Given the description of an element on the screen output the (x, y) to click on. 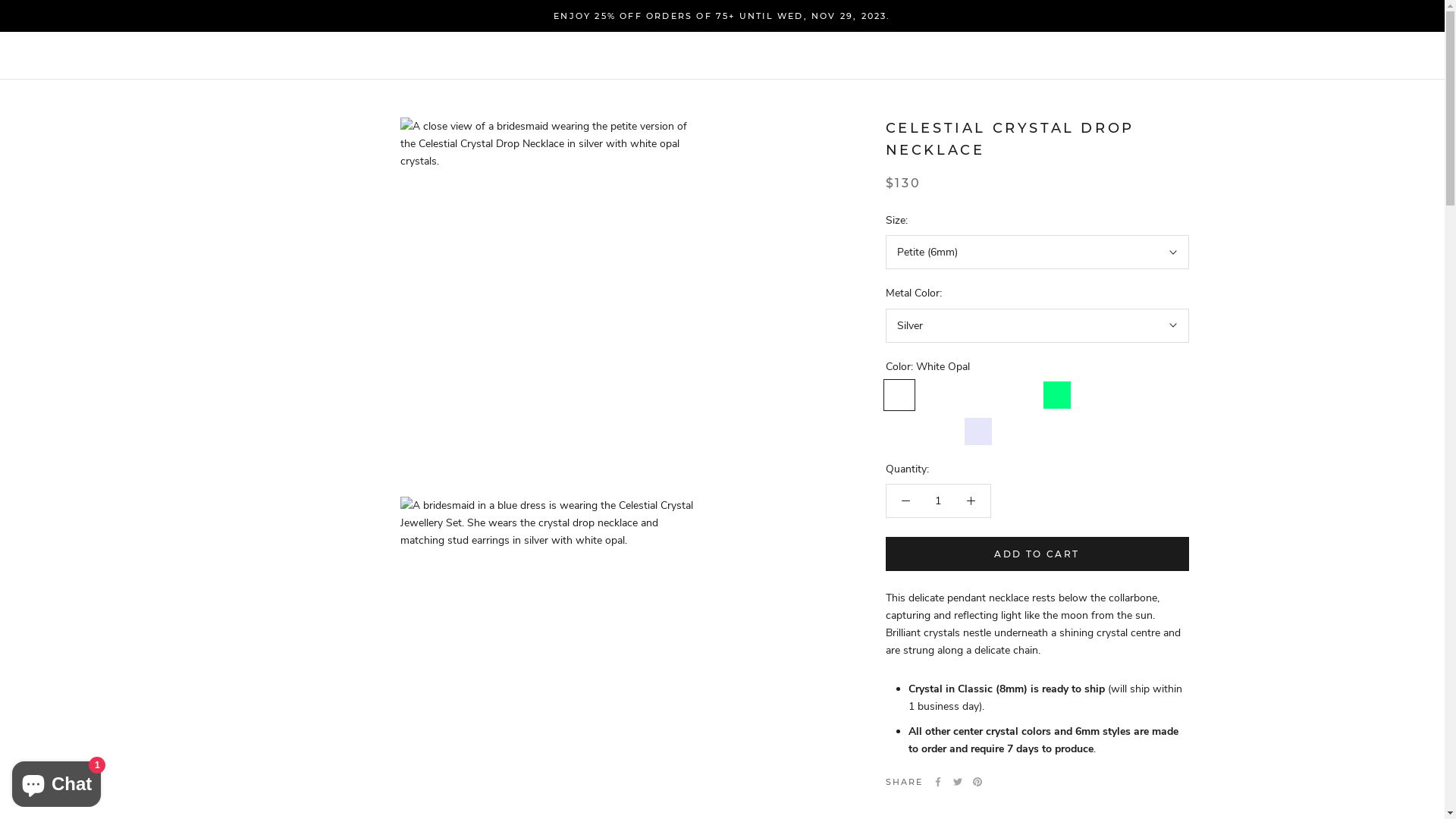
Petite (6mm) Element type: text (1037, 252)
Shopify online store chat Element type: hover (56, 780)
ADD TO CART Element type: text (1037, 553)
Silver Element type: text (1037, 325)
